Given the description of an element on the screen output the (x, y) to click on. 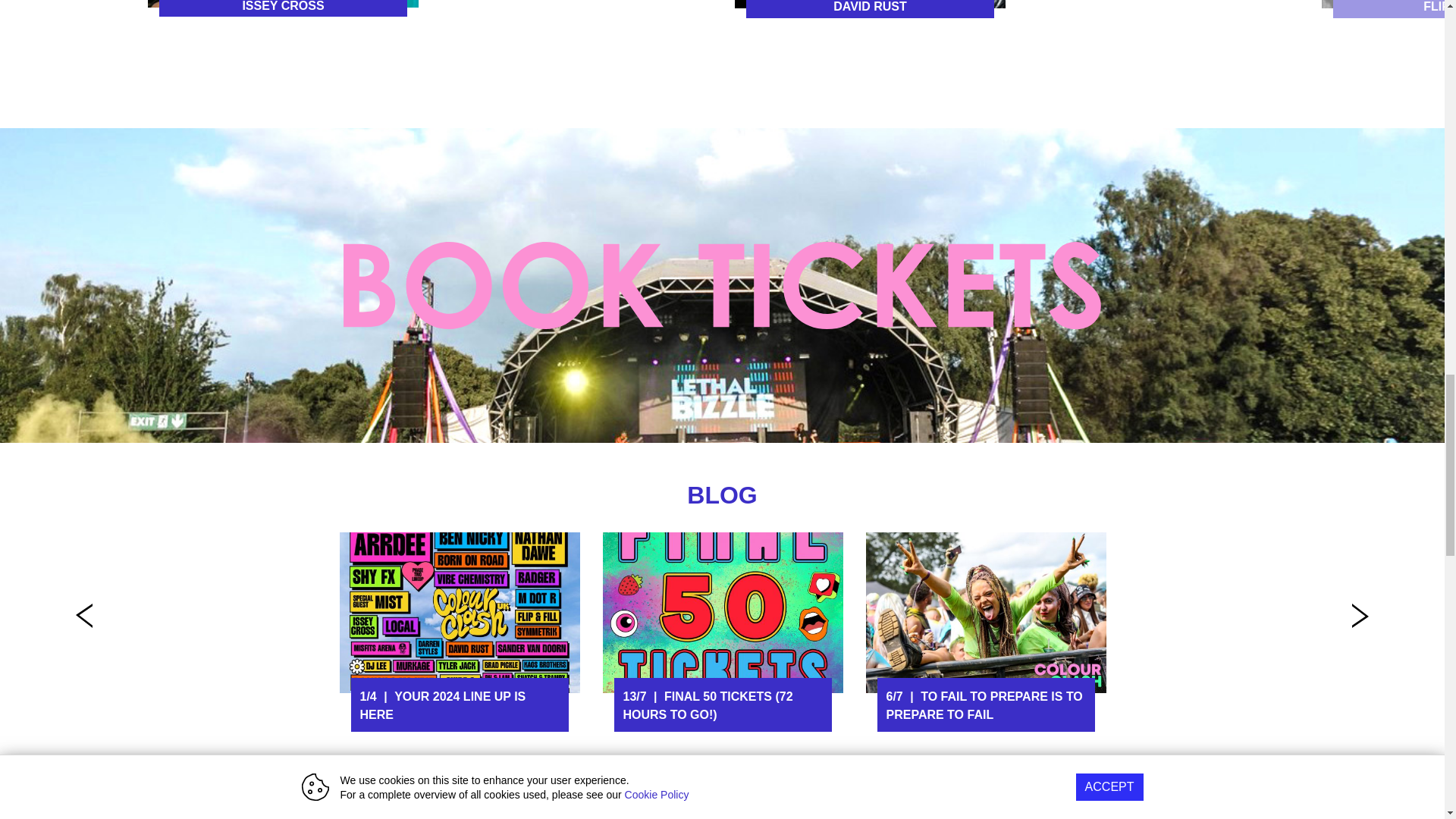
DAVID RUST (870, 8)
ISSEY CROSS (283, 8)
